Given the description of an element on the screen output the (x, y) to click on. 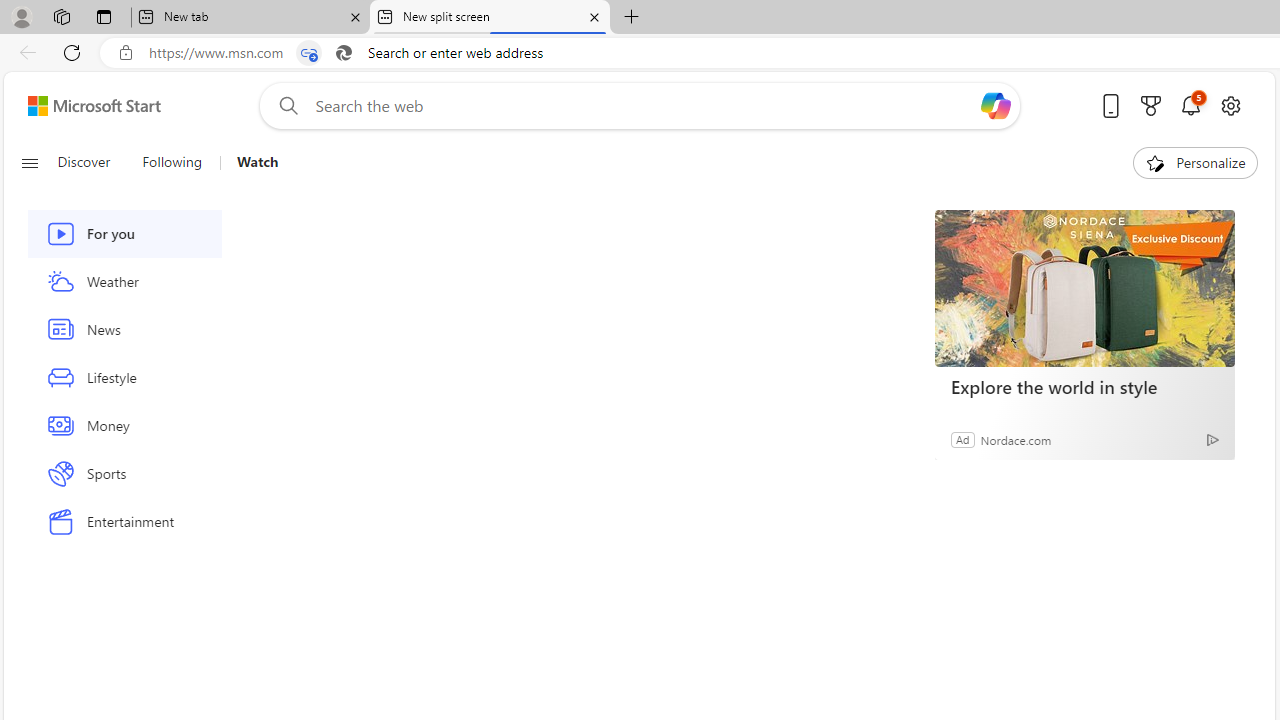
Microsoft rewards (1151, 105)
Nordace.com (1016, 439)
Class: button-glyph (29, 162)
Enter your search term (644, 106)
Open settings (1230, 105)
